Given the description of an element on the screen output the (x, y) to click on. 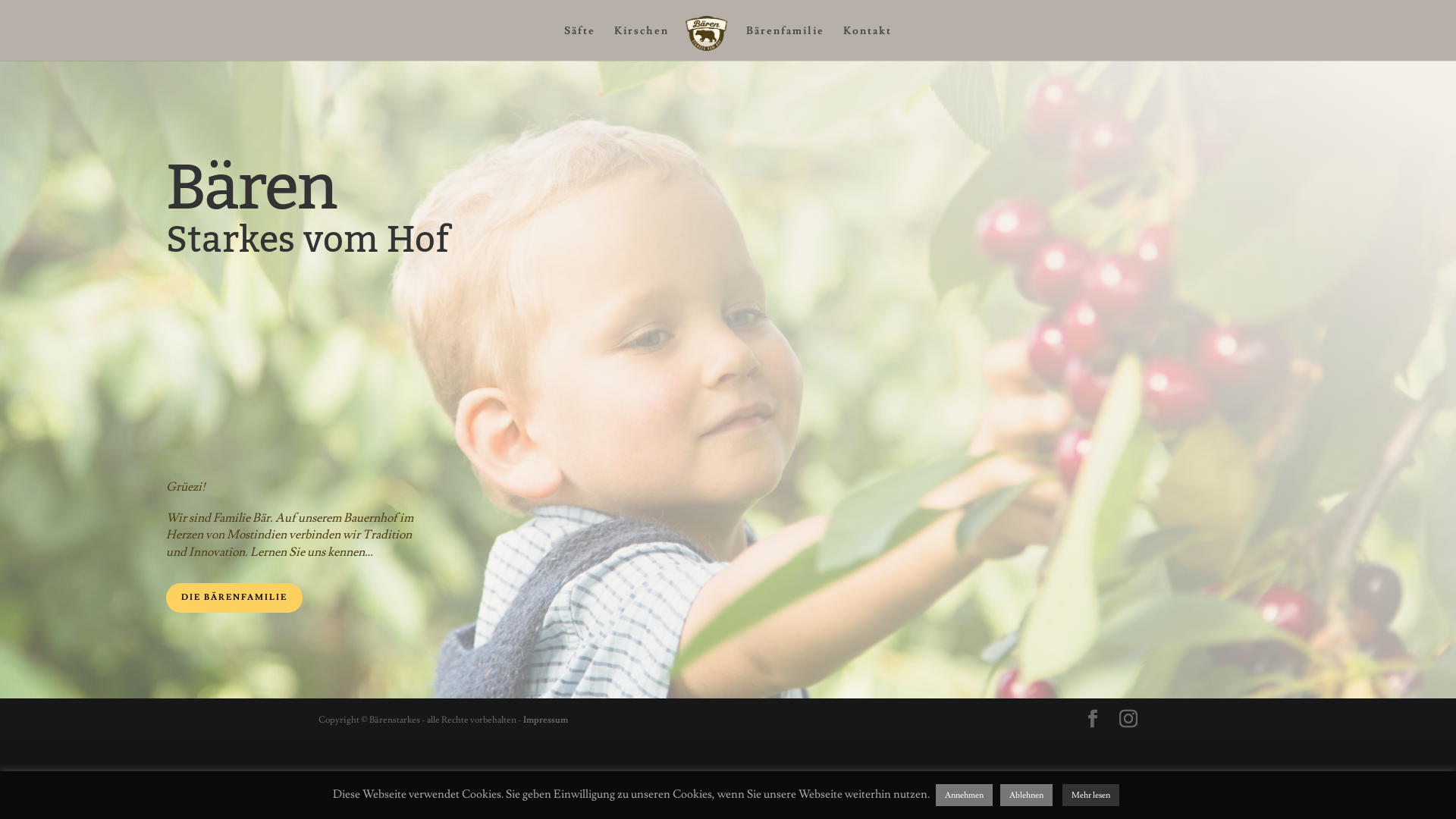
Mehr lesen Element type: text (1090, 795)
Ablehnen Element type: text (1026, 795)
Kontakt Element type: text (867, 42)
Kirschen Element type: text (641, 42)
Annehmen Element type: text (963, 795)
Impressum Element type: text (545, 719)
